Given the description of an element on the screen output the (x, y) to click on. 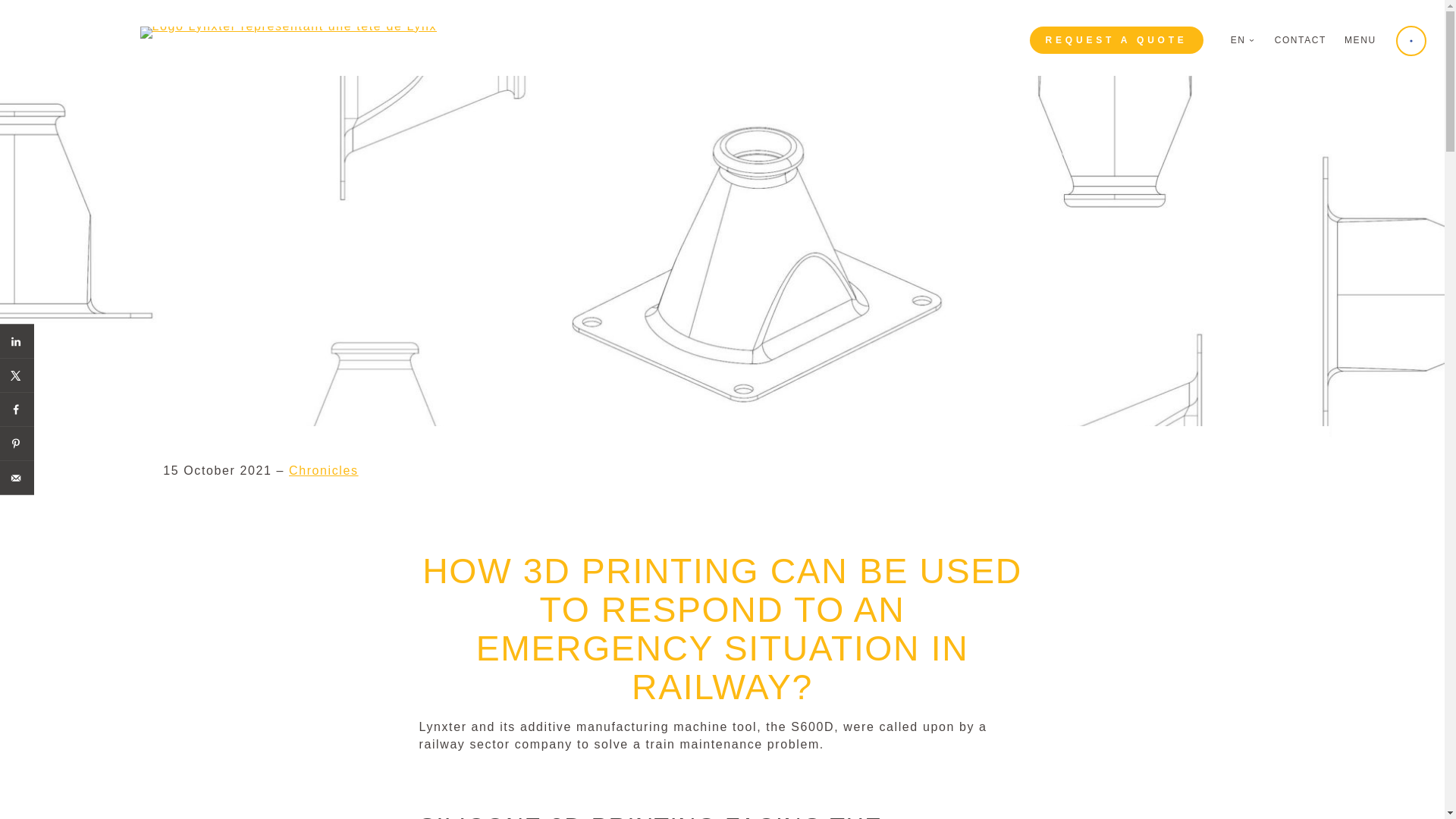
CONTACT (1300, 40)
Share on Facebook (16, 409)
Share on X (16, 374)
REQUEST A QUOTE (1116, 40)
Save to Pinterest (16, 442)
Share on LinkedIn (16, 341)
Send over email (16, 478)
MENU (1411, 40)
